Given the description of an element on the screen output the (x, y) to click on. 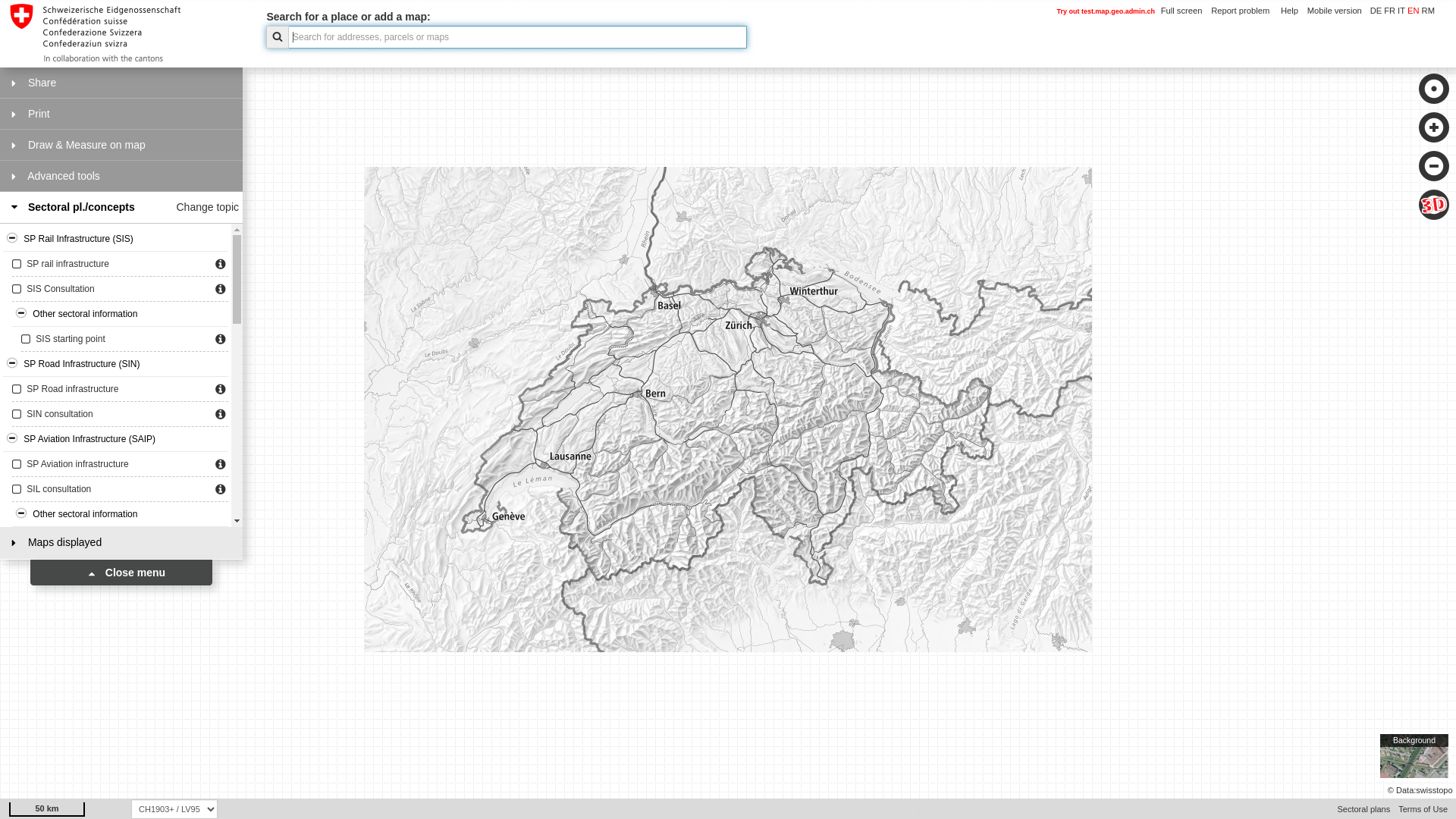
EN Element type: text (1412, 10)
IT Element type: text (1400, 10)
Draw & Measure on map Element type: text (121, 144)
Report problem Element type: text (1241, 10)
Close menu Element type: text (121, 572)
RM Element type: text (1426, 10)
Mobile version Element type: text (1334, 10)
Other sectoral information Element type: text (120, 514)
Other sectoral information Element type: text (120, 313)
Start tracking your position Element type: hover (1433, 89)
Zoom out Element type: hover (1433, 166)
Maps displayed Element type: text (121, 542)
FR Element type: text (1388, 10)
Other sectoral information Element type: text (120, 639)
SP Aviation Infrastructure (SAIP) Element type: text (115, 438)
Sectoral plans Element type: text (1363, 808)
SP Road Infrastructure (SIN) Element type: text (115, 363)
Help Element type: text (1289, 10)
Full screen Element type: text (1181, 10)
Advanced tools Element type: text (121, 175)
Try out test.map.geo.admin.ch Element type: text (1105, 11)
Print Element type: text (121, 113)
Zoom in Element type: hover (1433, 127)
Sectoral pl./concepts Element type: text (121, 207)
SP Rail Infrastructure (SIS) Element type: text (115, 238)
Change topic Element type: text (206, 206)
Switch to 3d Element type: hover (1433, 205)
Try out test.map.geo.admin.ch Element type: text (1105, 10)
Share Element type: text (121, 82)
Terms of Use Element type: text (1422, 808)
SP Military (SPM) Element type: text (115, 689)
DE Element type: text (1375, 10)
SP Navigation Infrastructure (SIF) Element type: text (115, 564)
swisstopo Element type: text (1433, 789)
